Given the description of an element on the screen output the (x, y) to click on. 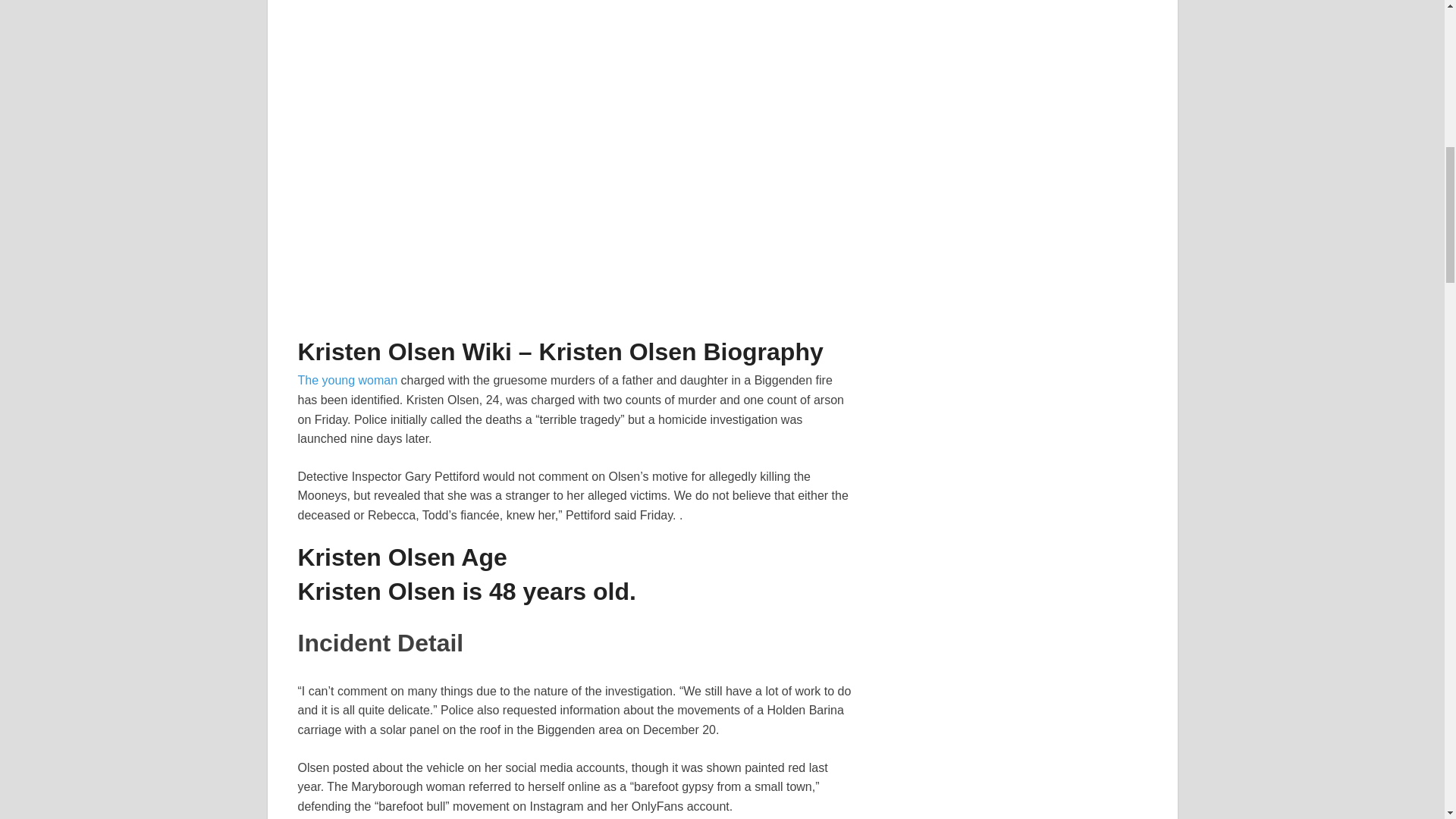
The young woman (347, 379)
